Given the description of an element on the screen output the (x, y) to click on. 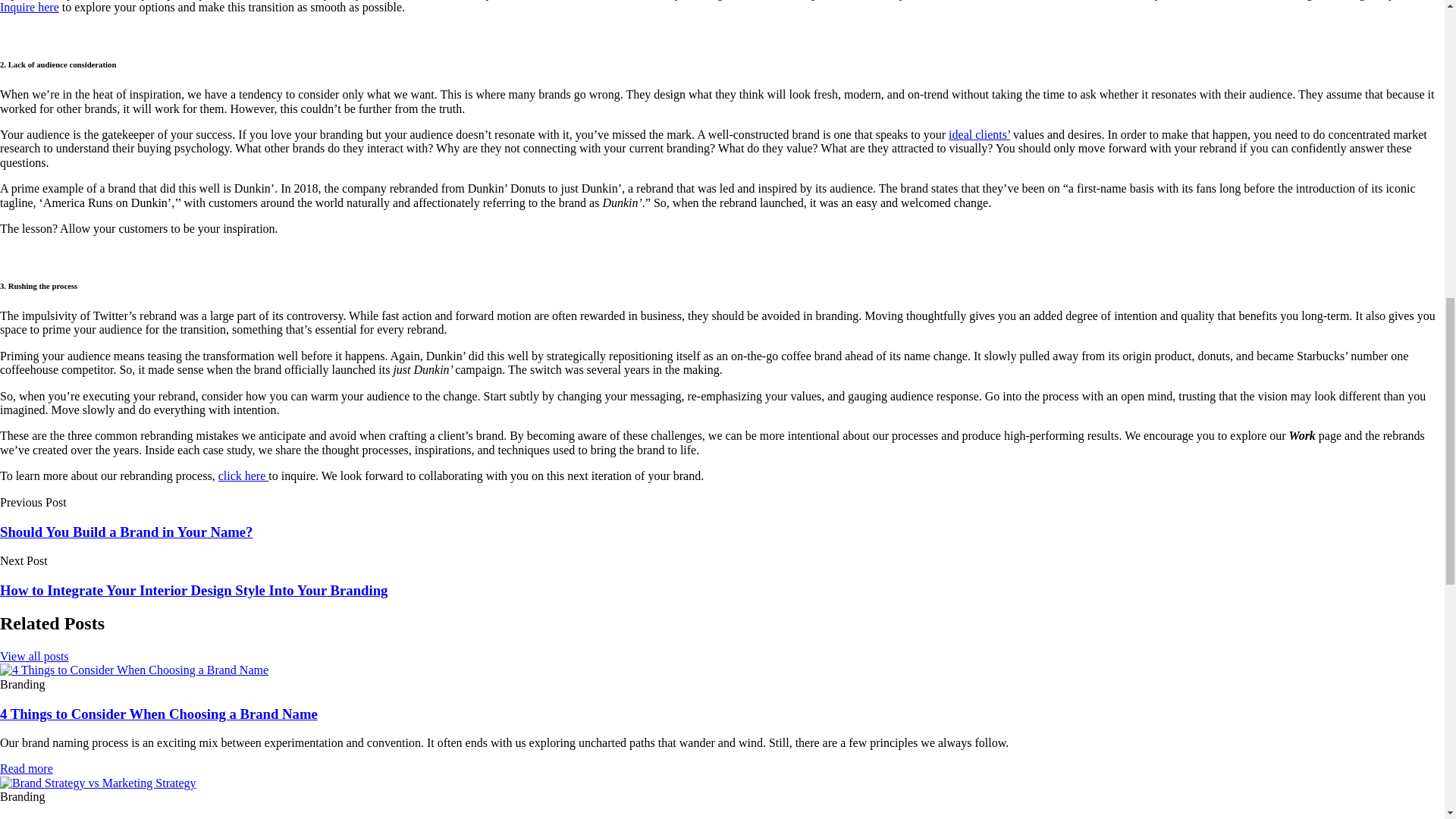
Inquire here (29, 6)
View all posts (34, 656)
Read more (26, 768)
Should You Build a Brand in Your Name? (125, 531)
click here (243, 475)
4 Things to Consider When Choosing a Brand Name (158, 713)
